Given the description of an element on the screen output the (x, y) to click on. 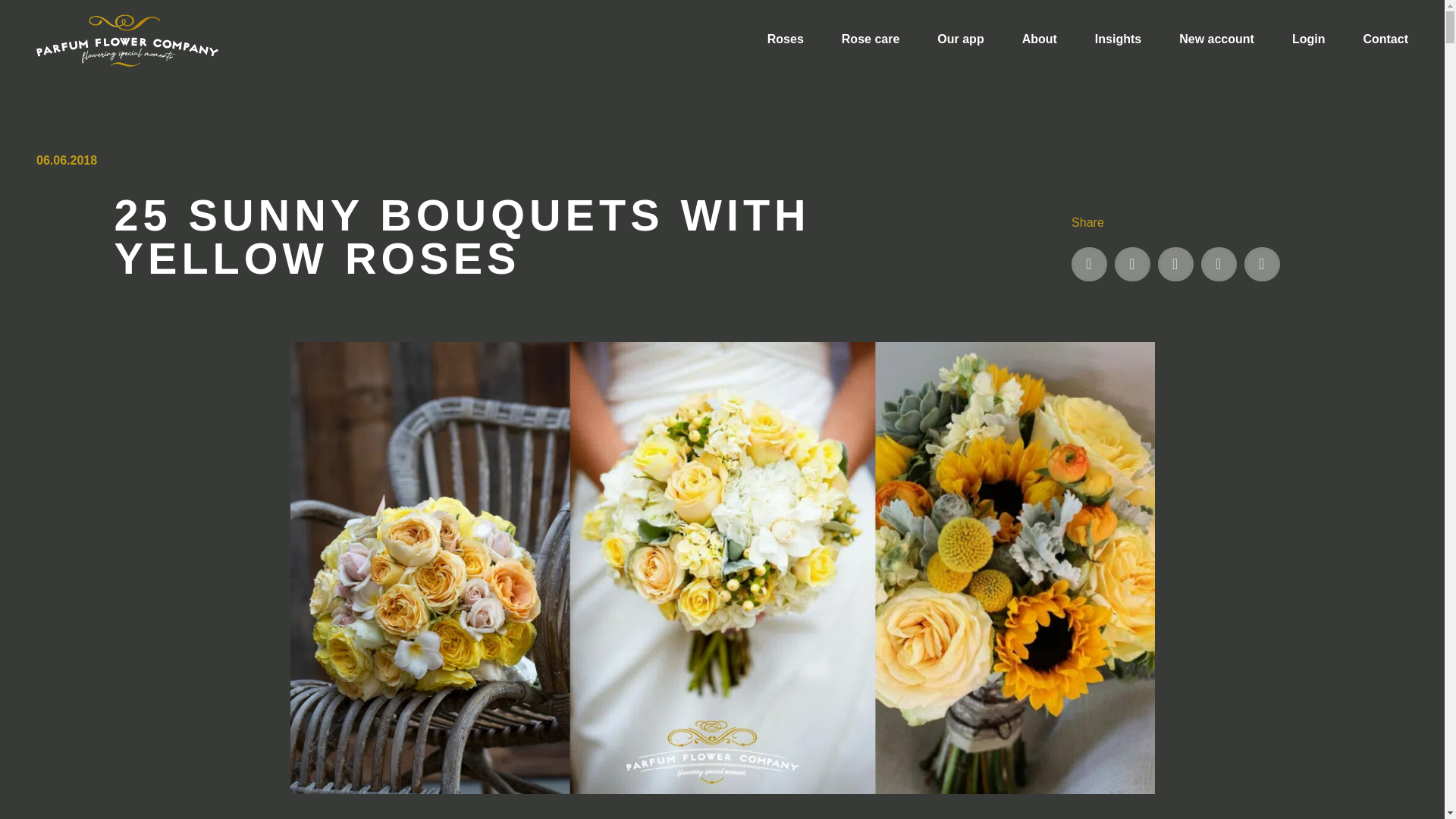
Insights (1117, 39)
Our app (960, 39)
Roses (785, 39)
New account (1216, 39)
Contact (1384, 39)
Login (1308, 39)
About (1039, 39)
Rose care (870, 39)
